Given the description of an element on the screen output the (x, y) to click on. 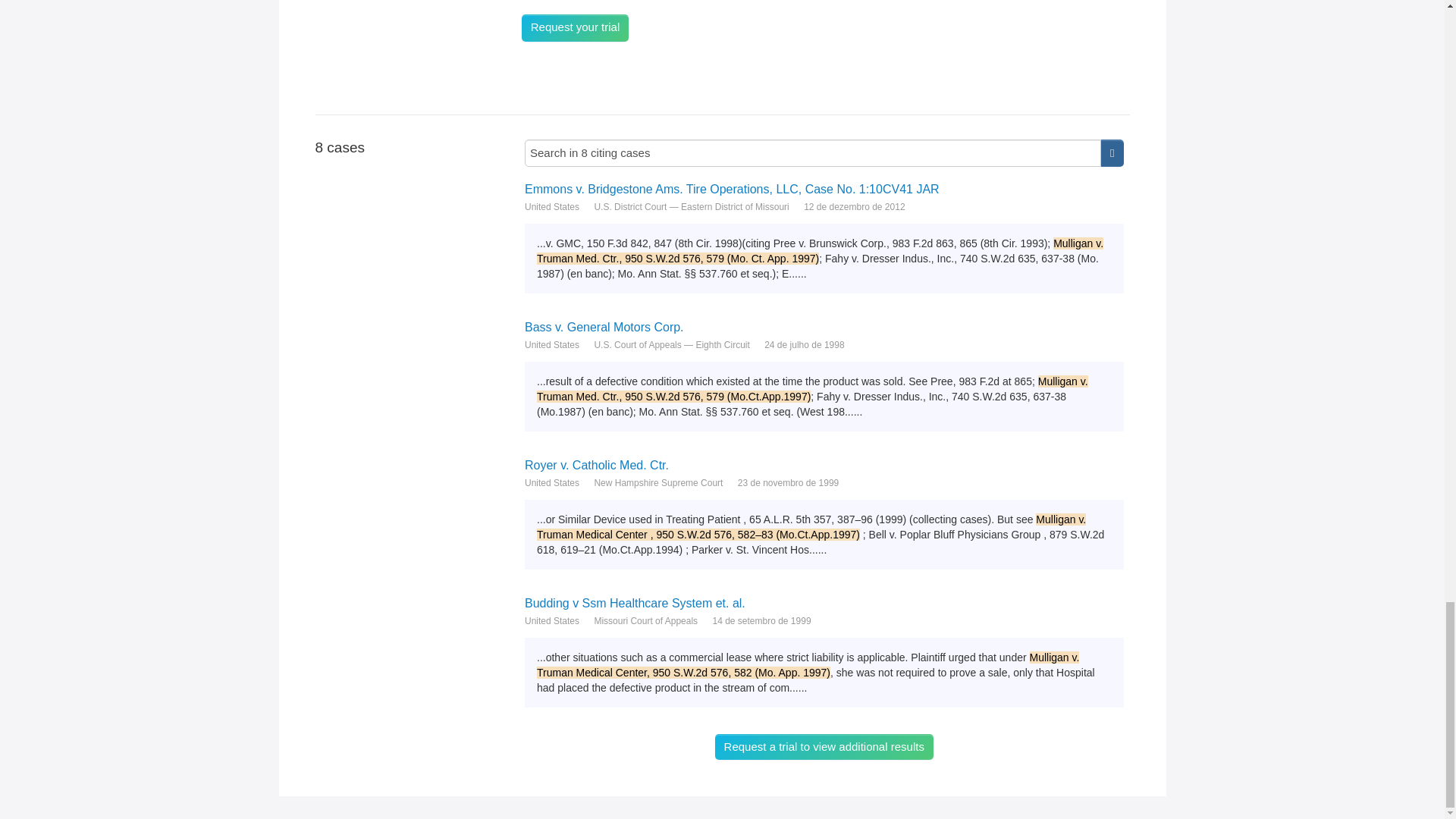
United States (551, 206)
14 de setembro de 1999 (760, 620)
12 de dezembro de 2012 (853, 206)
Bass v. General Motors Corp. (824, 327)
New Hampshire Supreme Court (658, 482)
Royer v. Catholic Med. Ctr. (824, 464)
United States (551, 620)
Budding v Ssm Healthcare System et. al. (824, 603)
23 de novembro de 1999 (788, 482)
